Given the description of an element on the screen output the (x, y) to click on. 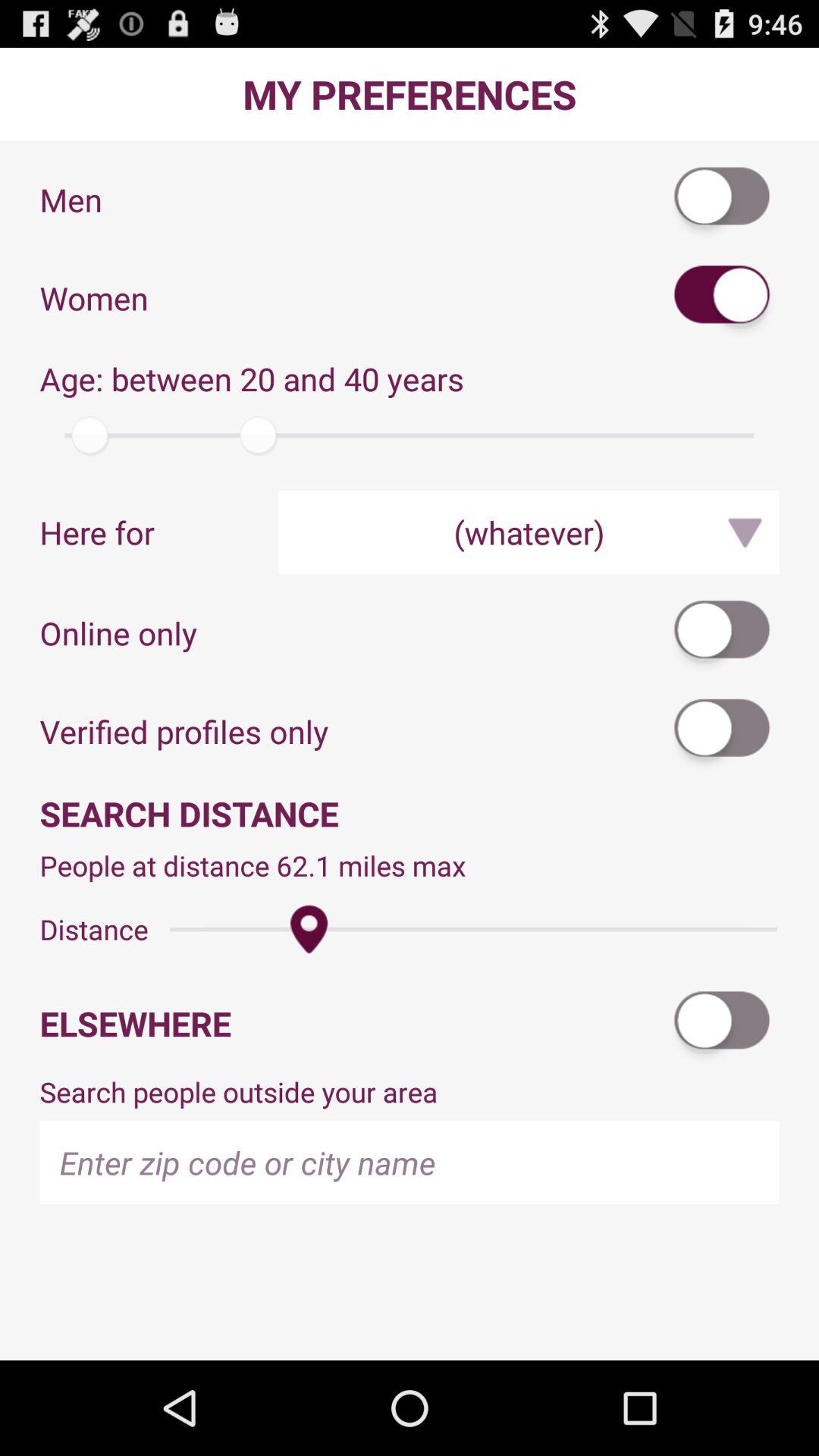
toggle gender preference (722, 297)
